Given the description of an element on the screen output the (x, y) to click on. 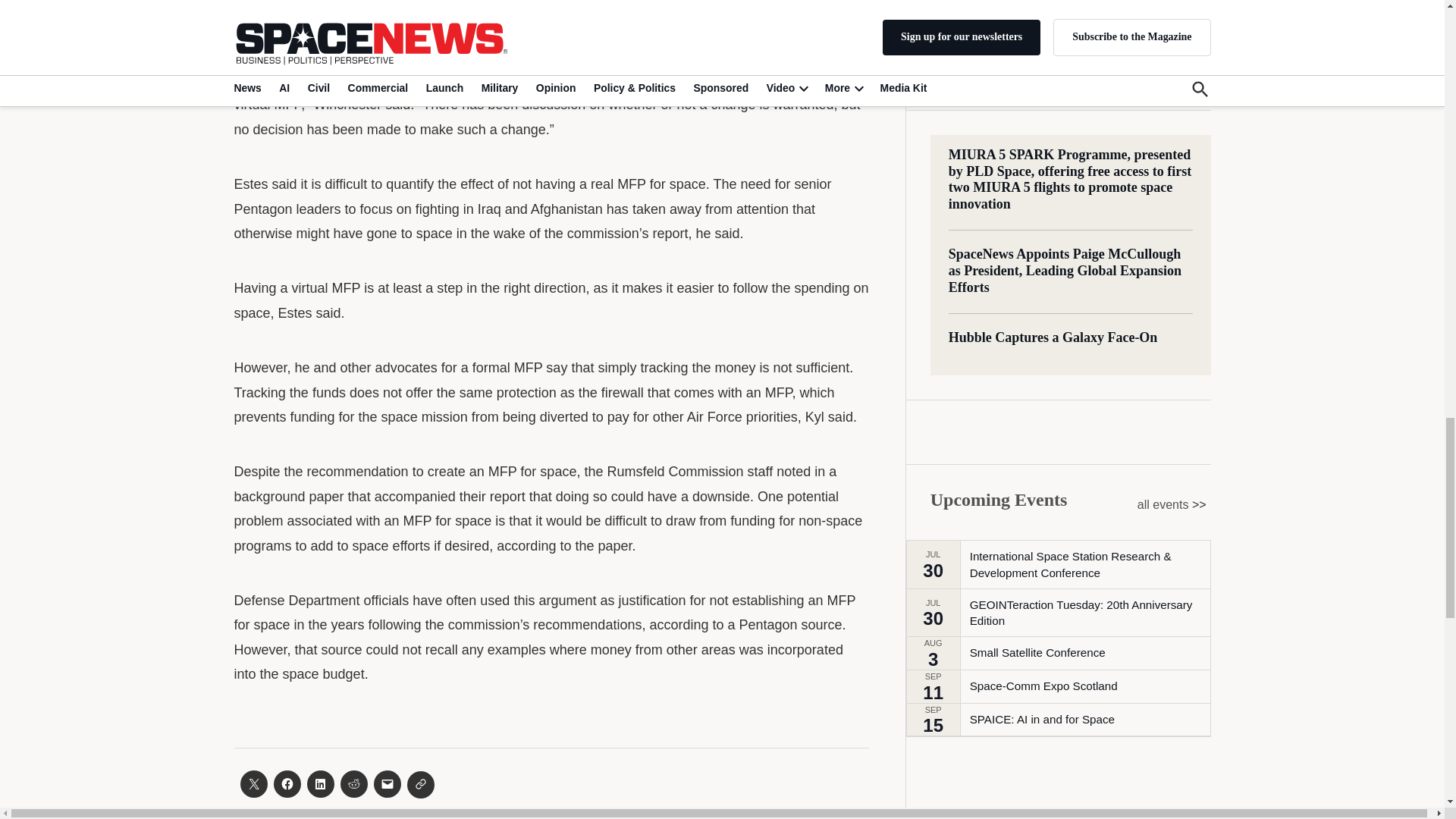
Click to share on Clipboard (419, 784)
Click to share on Reddit (352, 783)
Click to share on Facebook (286, 783)
Click to share on X (253, 783)
Click to email a link to a friend (386, 783)
Click to share on LinkedIn (319, 783)
